Given the description of an element on the screen output the (x, y) to click on. 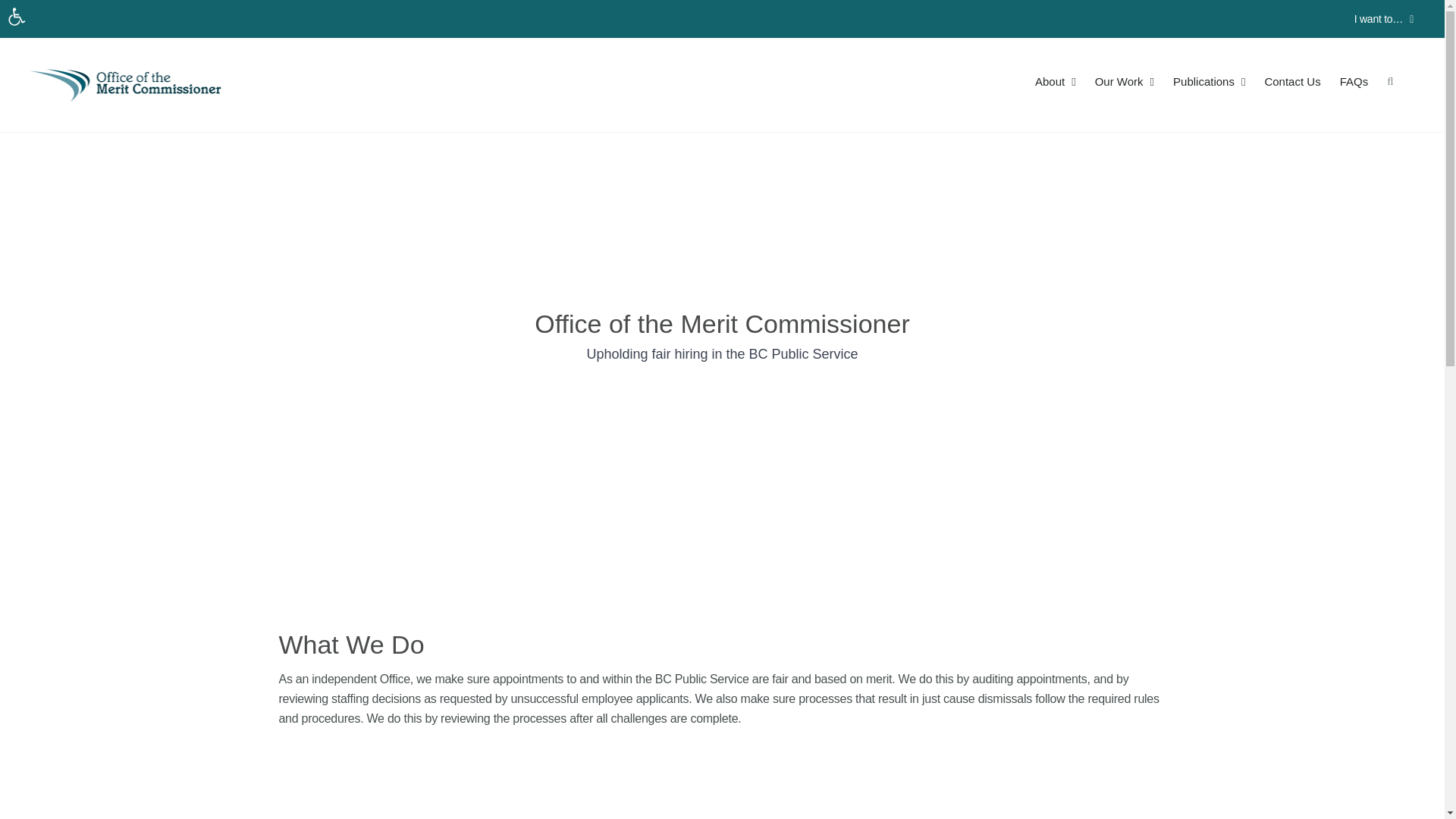
Our Work Element type: text (1124, 80)
Search Element type: hover (1389, 80)
Publications Element type: text (1209, 80)
Open toolbar
Accessibility Tools Element type: text (16, 16)
About Element type: text (1055, 80)
Contact Us Element type: text (1292, 80)
FAQs Element type: text (1353, 80)
